Given the description of an element on the screen output the (x, y) to click on. 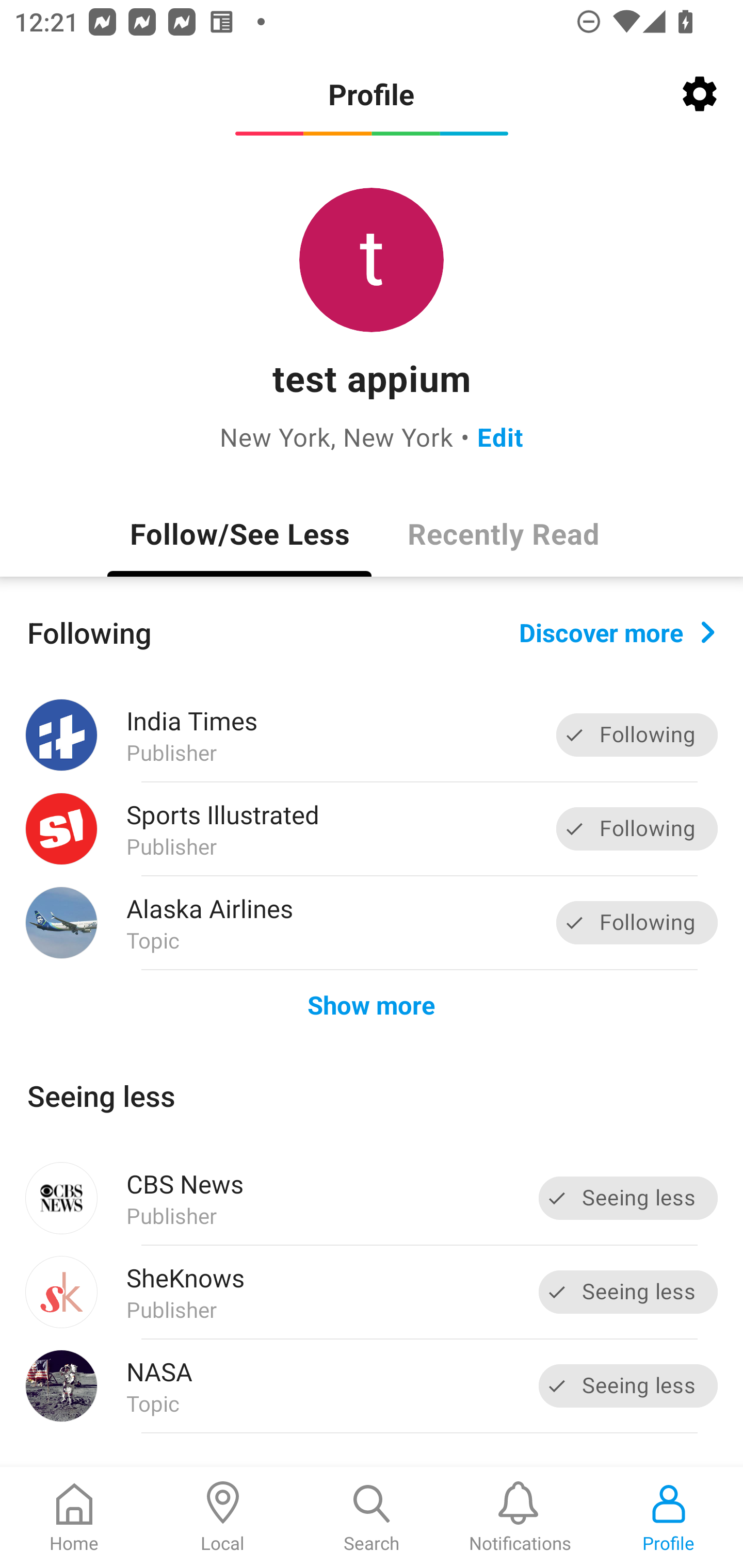
Settings (699, 93)
Edit (500, 436)
Recently Read (503, 533)
Discover more (617, 631)
India Times Publisher Following (371, 735)
Following (636, 735)
Sports Illustrated Publisher Following (371, 829)
Following (636, 828)
Alaska Airlines Topic Following (371, 922)
Following (636, 922)
Show more (371, 1004)
CBS News Publisher Seeing less (371, 1197)
Seeing less (627, 1197)
SheKnows Publisher Seeing less (371, 1291)
Seeing less (627, 1291)
NASA Topic Seeing less (371, 1386)
Seeing less (627, 1386)
Home (74, 1517)
Local (222, 1517)
Search (371, 1517)
Notifications (519, 1517)
